Given the description of an element on the screen output the (x, y) to click on. 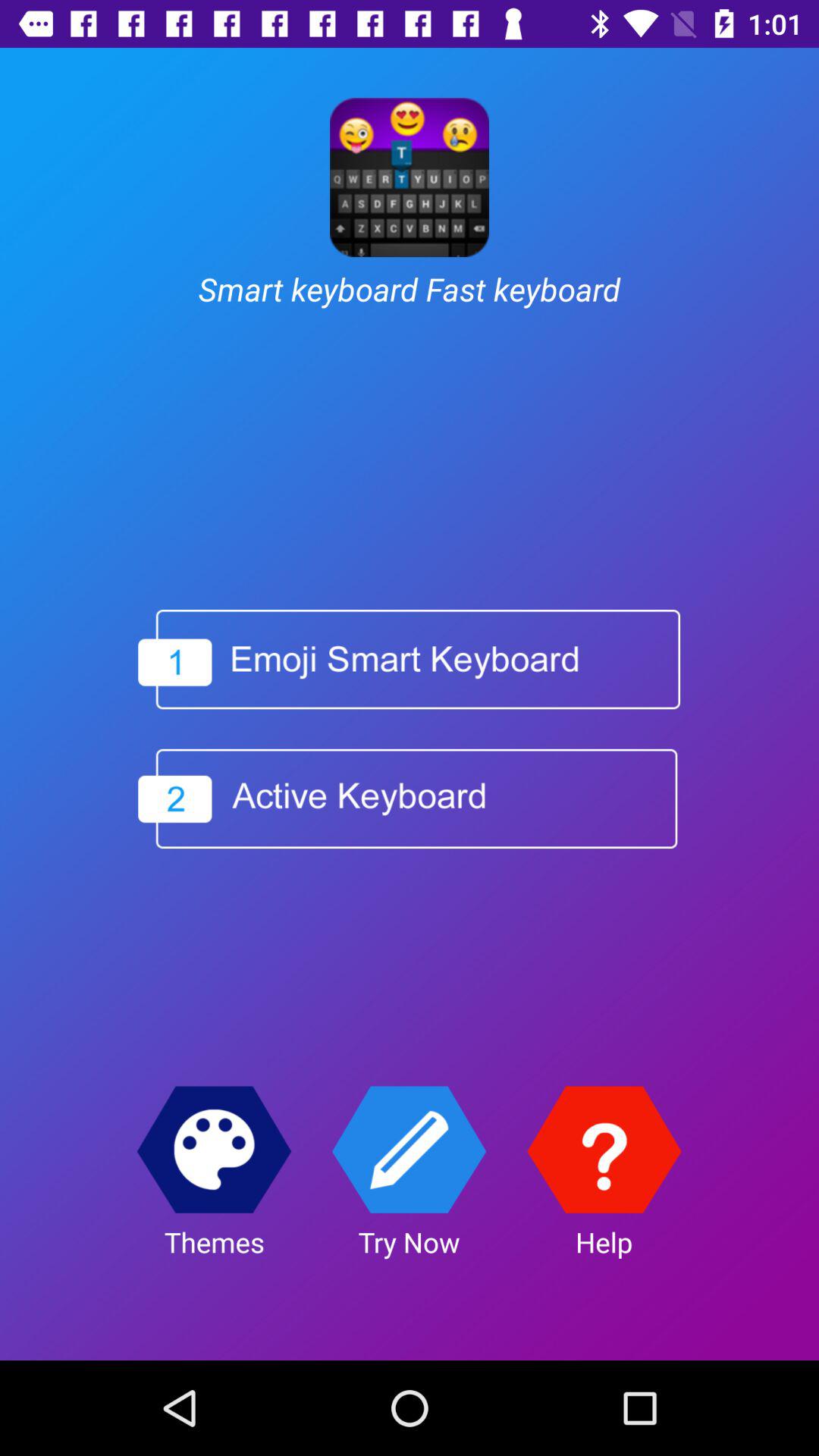
go to theme (214, 1149)
